Given the description of an element on the screen output the (x, y) to click on. 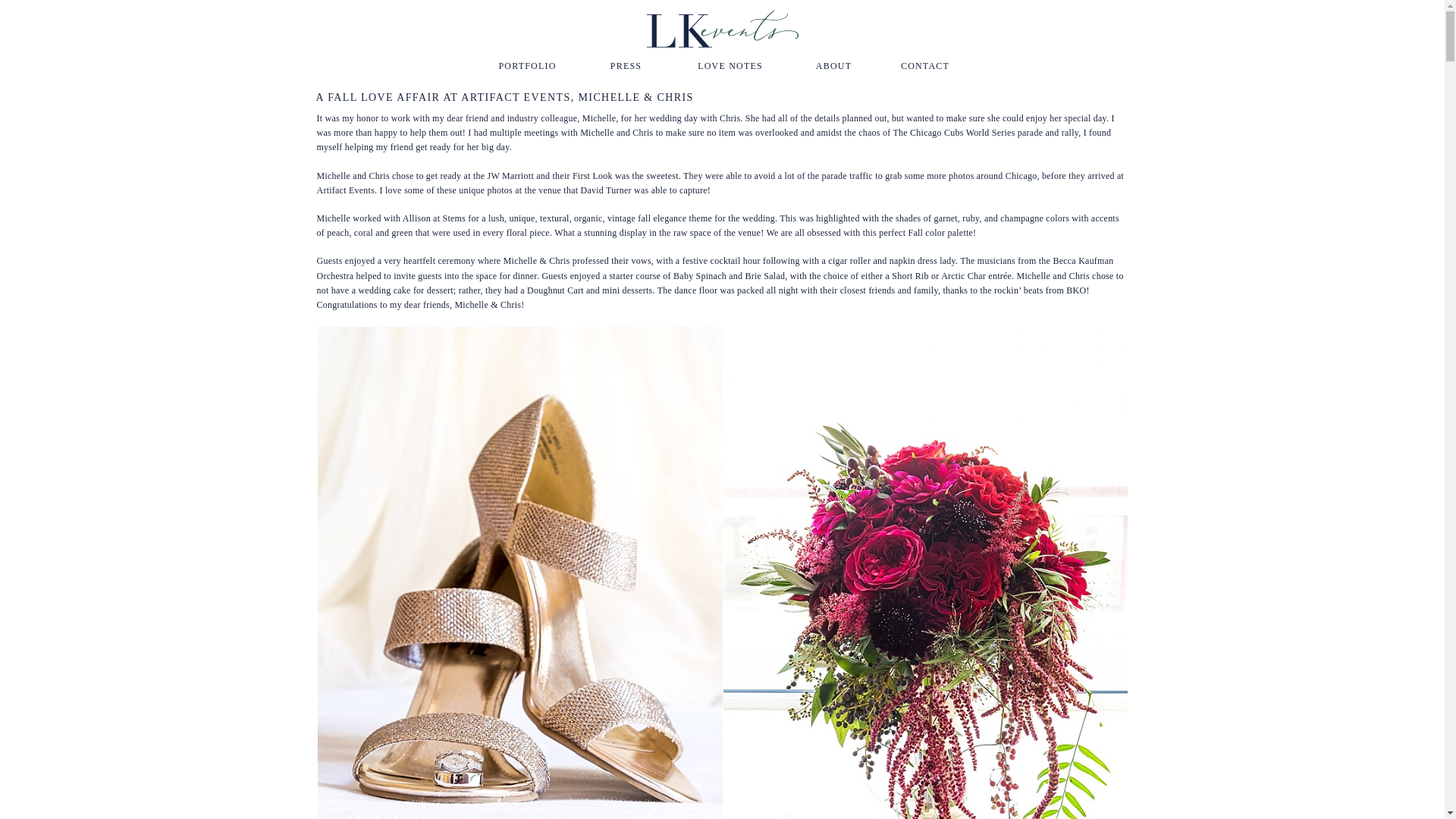
PRESS (626, 65)
CONTACT (925, 65)
Stems (453, 217)
ABOUT (833, 65)
David Turner (605, 190)
Becca Kaufman Orchestra (715, 267)
LOVE NOTES (730, 65)
JW Marriott (510, 175)
Artifact Events (346, 190)
PORTFOLIO (526, 65)
